Given the description of an element on the screen output the (x, y) to click on. 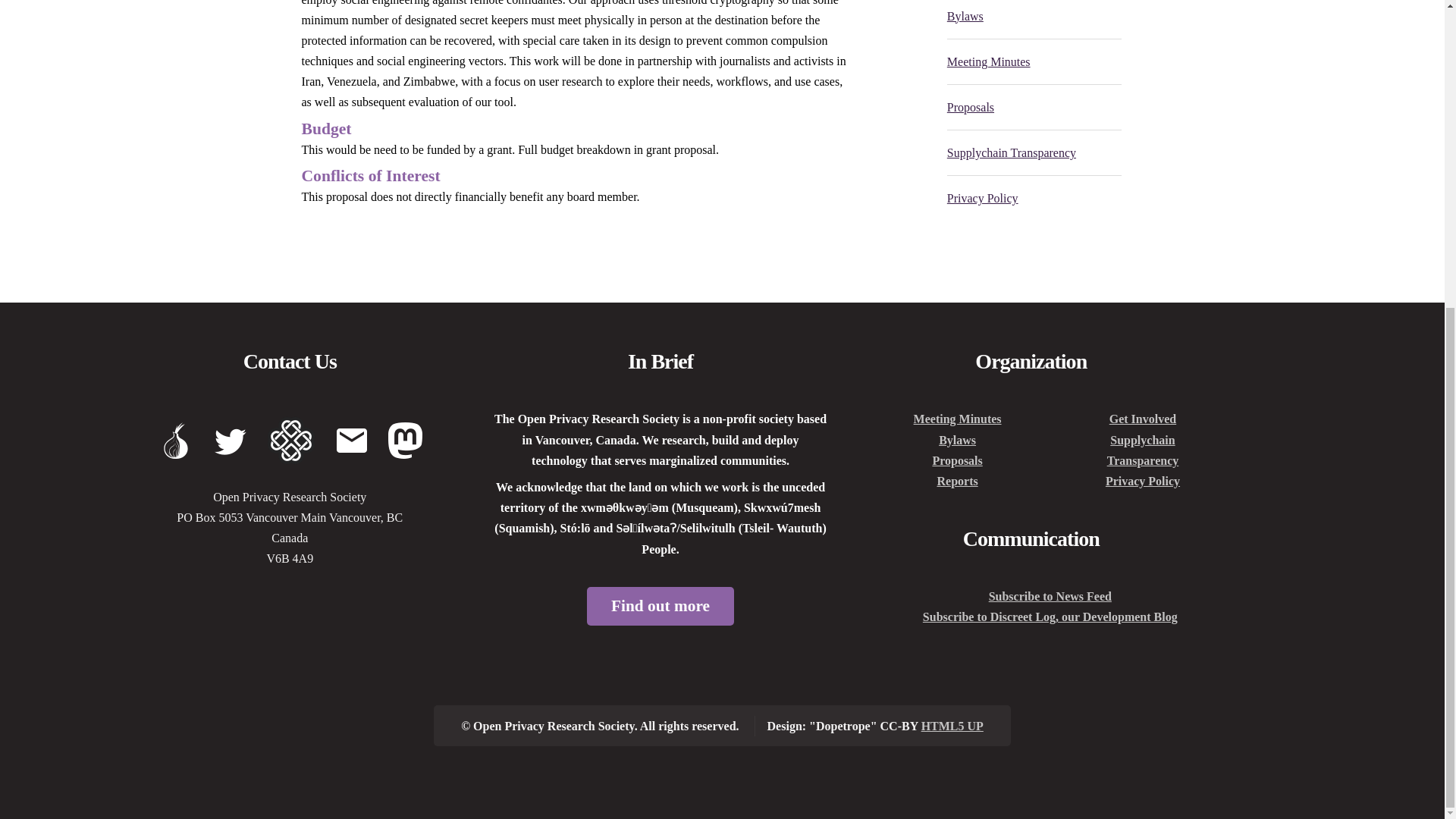
Bylaws (957, 440)
Find out more (659, 606)
Proposals (970, 106)
Subscribe to News Feed (1050, 595)
Supplychain Transparency (1011, 152)
Meeting Minutes (957, 418)
Meeting Minutes (988, 61)
Get Involved (1142, 418)
Proposals (956, 460)
Supplychain Transparency (1142, 450)
